Given the description of an element on the screen output the (x, y) to click on. 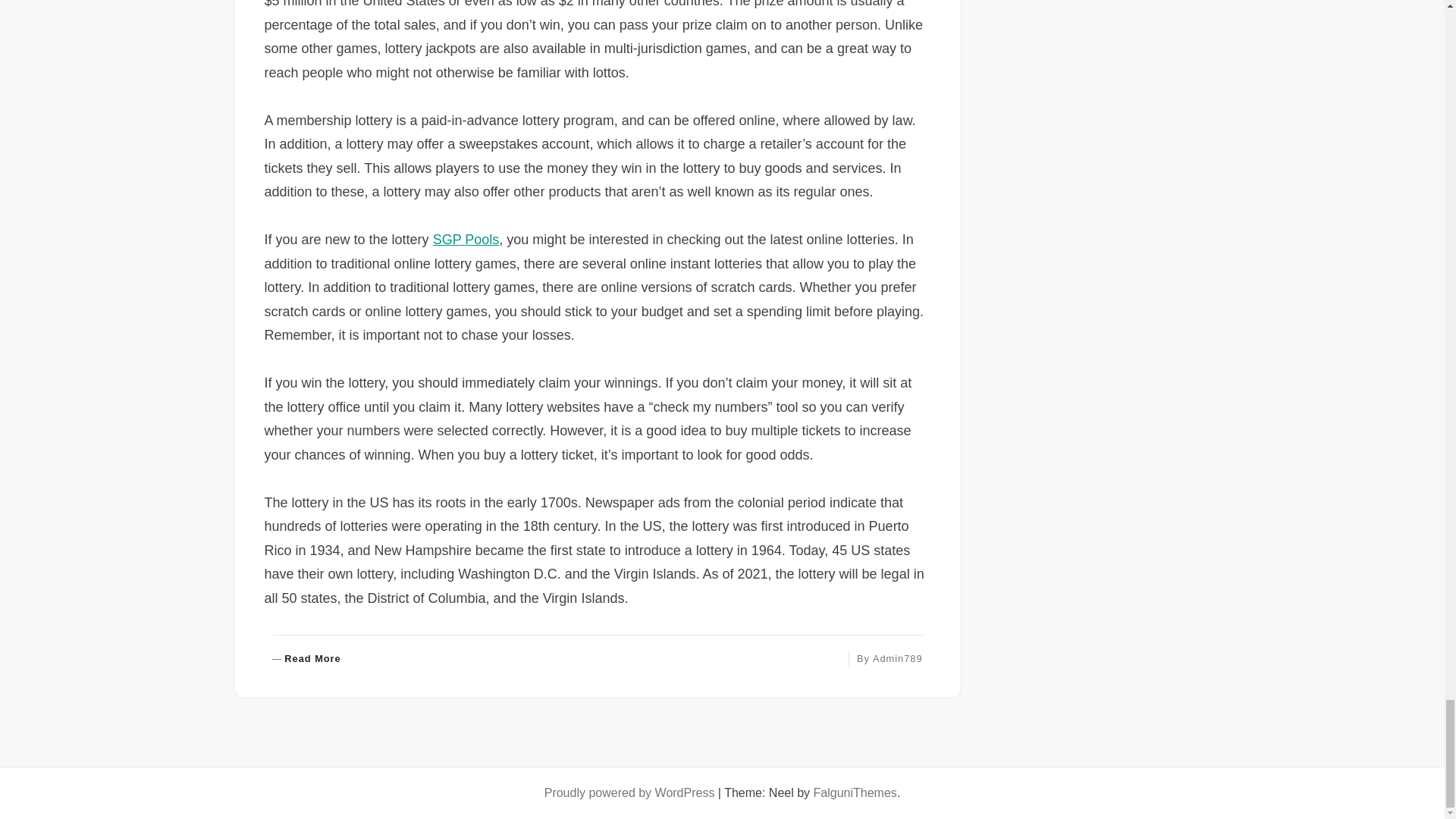
SGP Pools (465, 239)
Admin789 (305, 658)
